Given the description of an element on the screen output the (x, y) to click on. 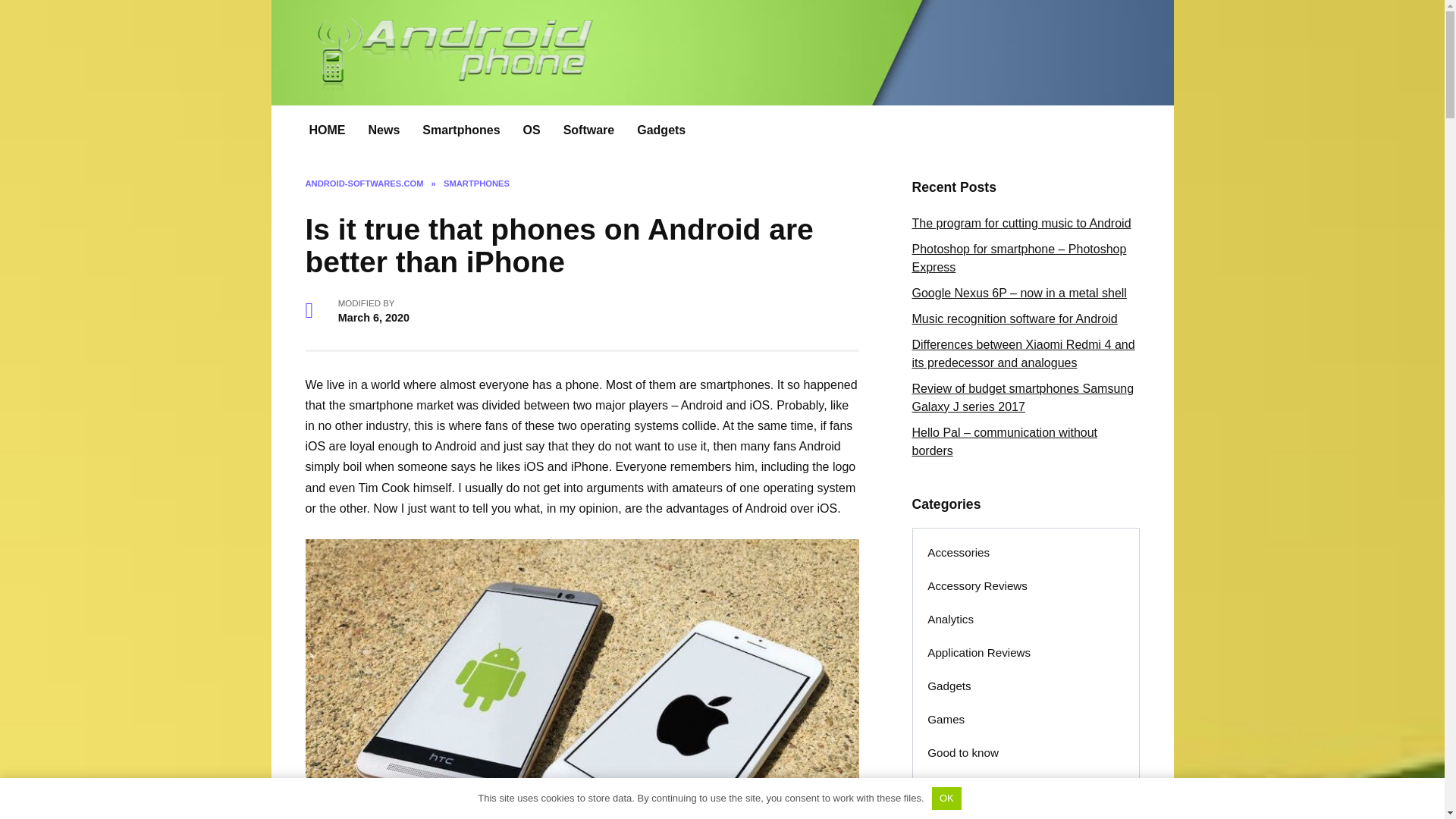
Smartphones (460, 130)
HOME (326, 130)
Gadgets (661, 130)
Application Reviews (978, 652)
SMARTPHONES (476, 183)
Music recognition software for Android (1013, 318)
Review of budget smartphones Samsung Galaxy J series 2017 (1022, 397)
Accessory Reviews (977, 585)
News (383, 130)
Gadgets (949, 685)
Software (588, 130)
Analytics (950, 619)
ANDROID-SOFTWARES.COM (363, 183)
Accessories (958, 552)
